Given the description of an element on the screen output the (x, y) to click on. 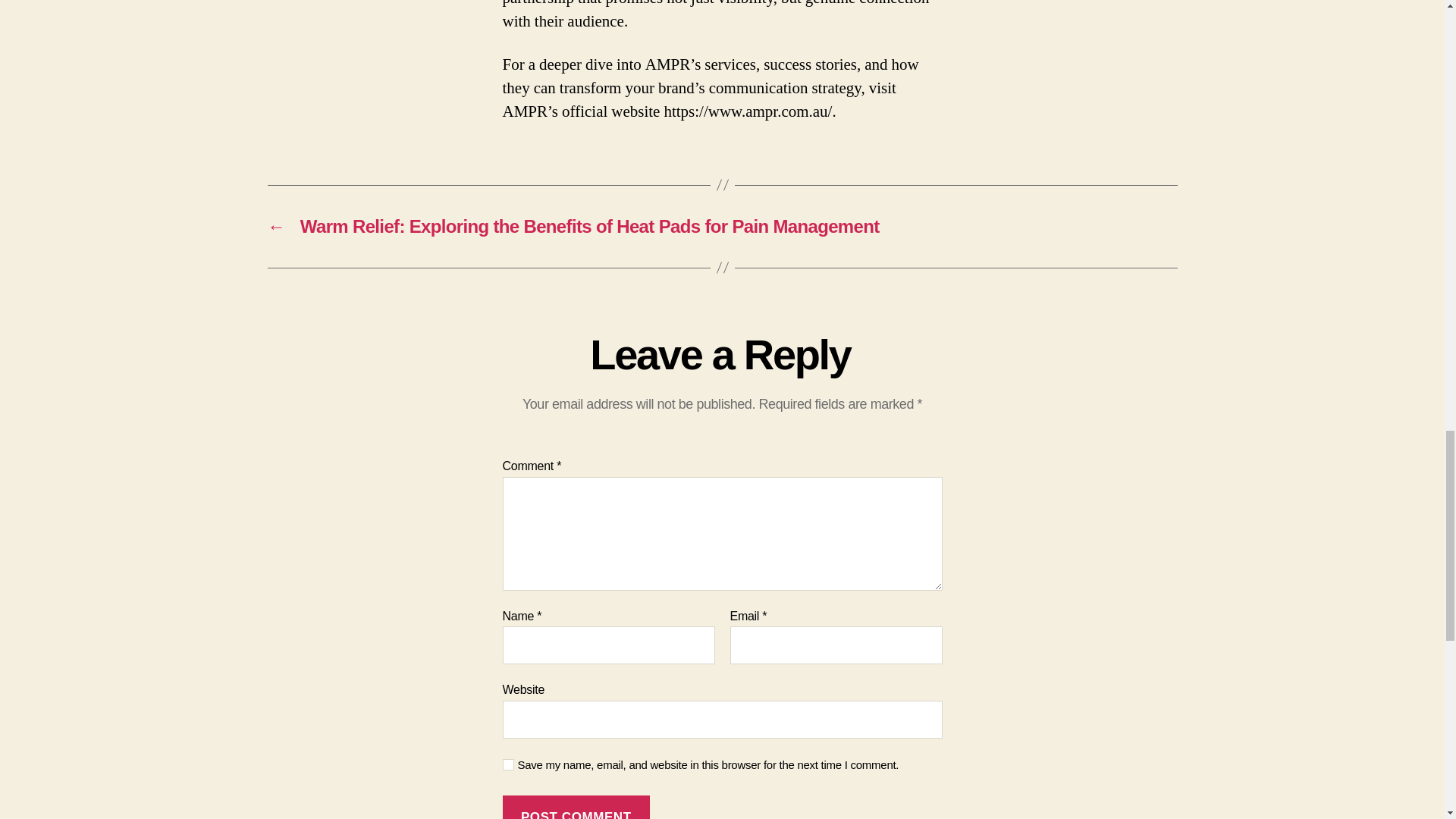
Post Comment (575, 807)
Post Comment (575, 807)
yes (507, 764)
